Given the description of an element on the screen output the (x, y) to click on. 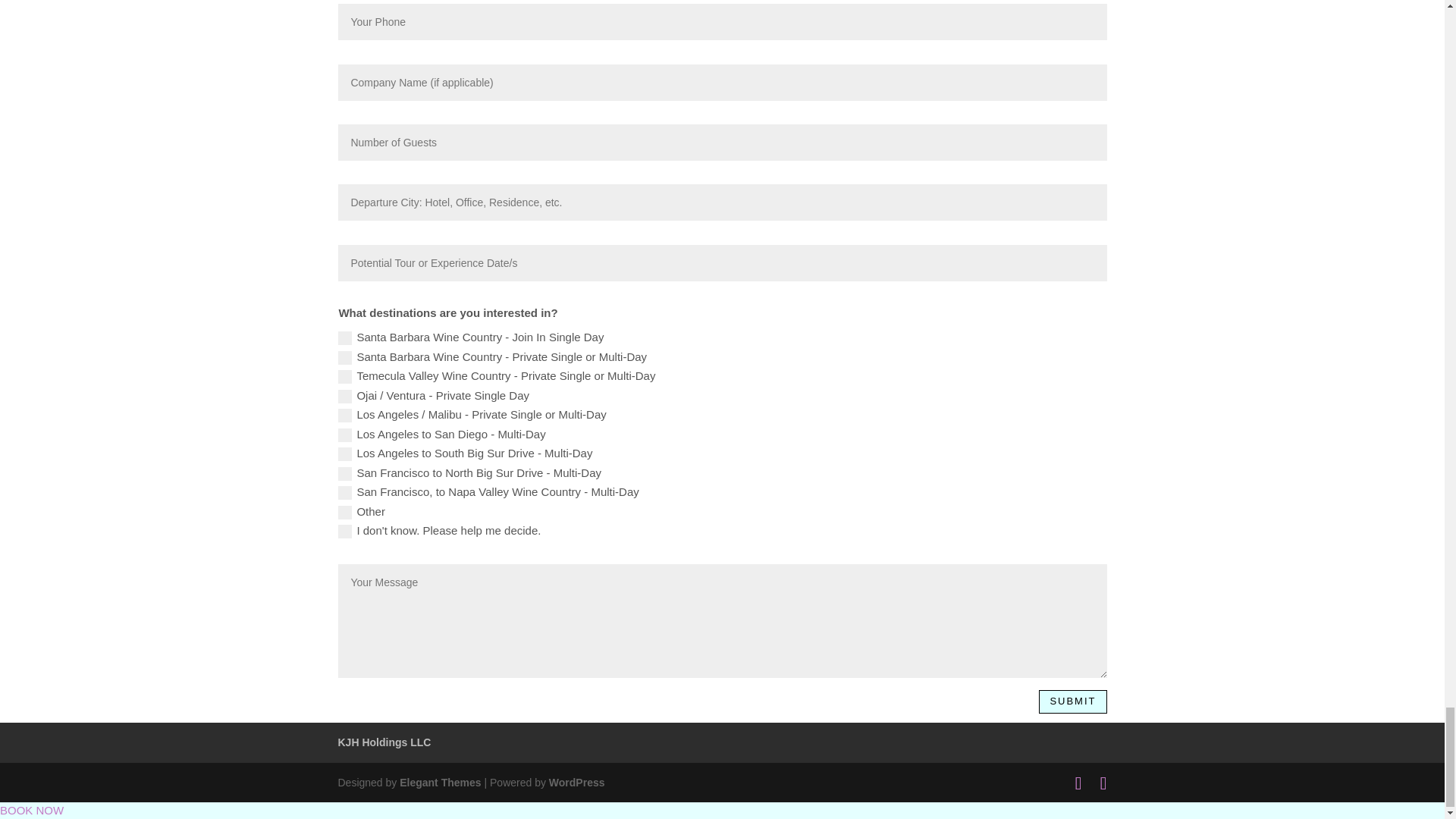
SUBMIT (1072, 702)
Premium WordPress Themes (439, 782)
BOOK NOW (32, 809)
WordPress (576, 782)
Elegant Themes (439, 782)
KJH Holdings LLC (383, 742)
